Given the description of an element on the screen output the (x, y) to click on. 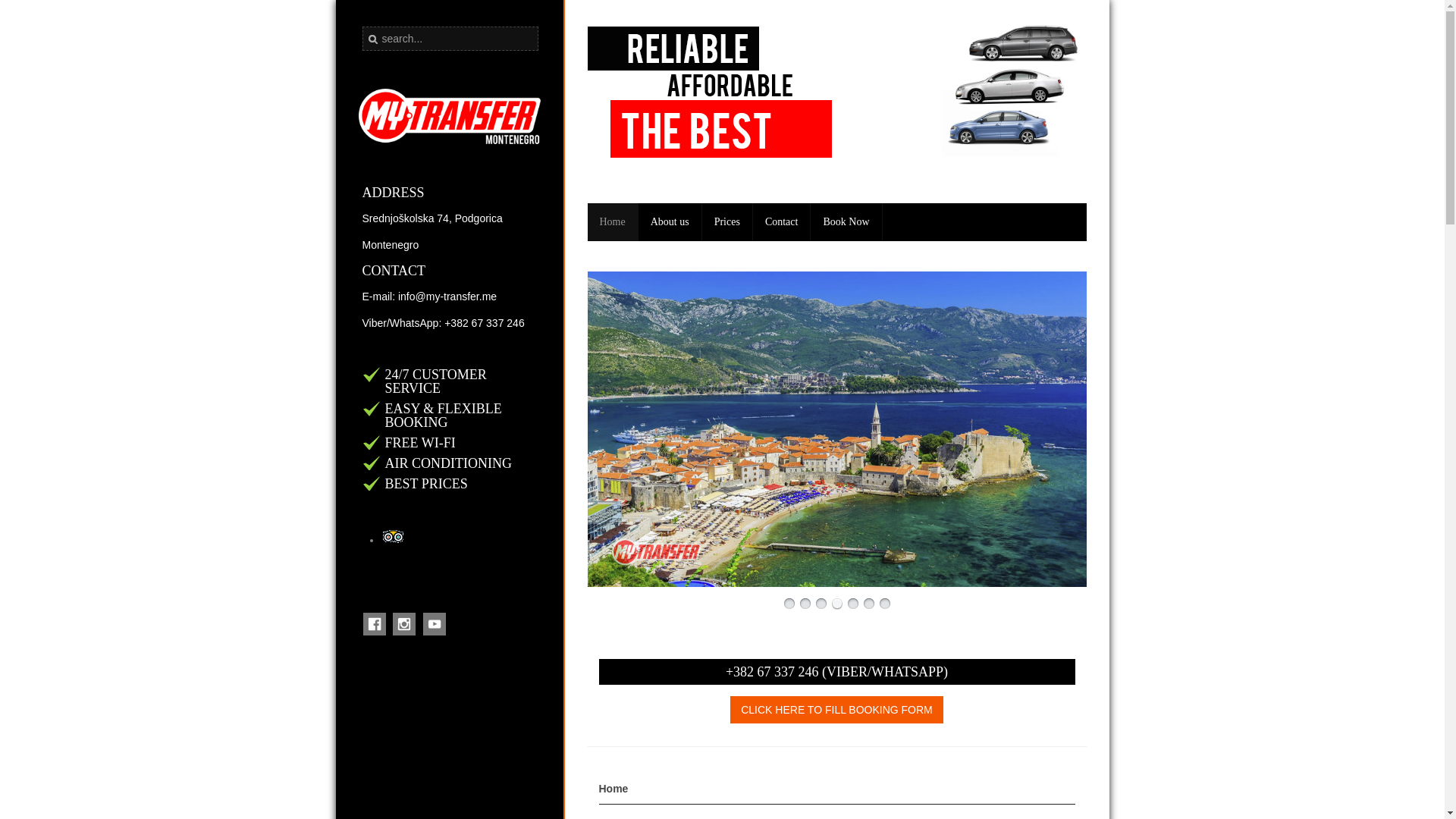
Reset (3, 2)
About us (670, 221)
youtube (434, 631)
instagram (403, 631)
Home (611, 221)
CLICK HERE TO FILL BOOKING FORM (836, 709)
Contact (781, 221)
Book Now (845, 221)
facebook (373, 631)
Prices (726, 221)
